Given the description of an element on the screen output the (x, y) to click on. 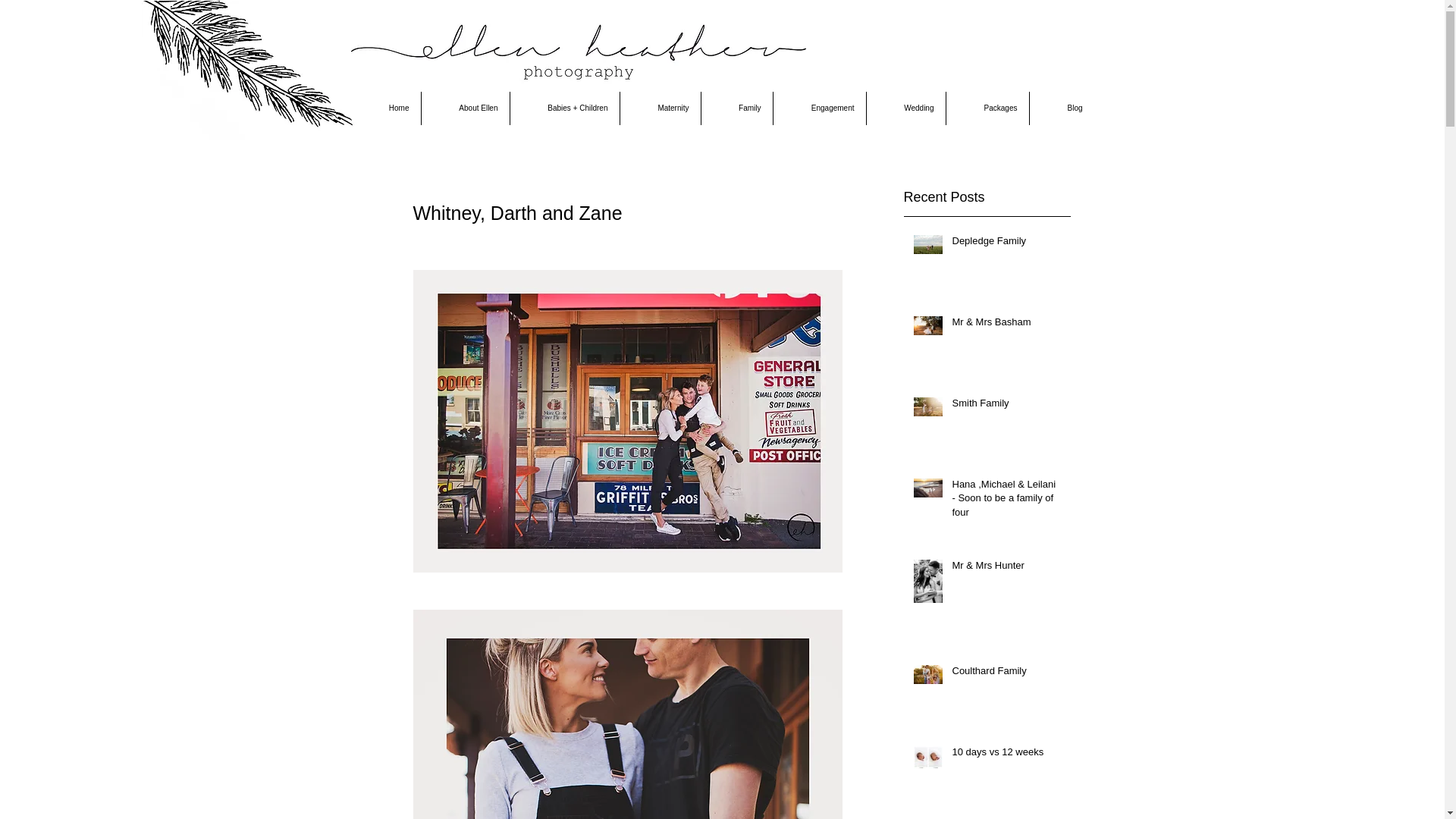
Home Element type: text (385, 108)
Mr & Mrs Hunter Element type: text (1006, 568)
Engagement Element type: text (819, 108)
Depledge Family Element type: text (1006, 244)
Mr & Mrs Basham Element type: text (1006, 325)
Hana ,Michael & Leilani - Soon to be a family of four Element type: text (1006, 501)
Coulthard Family Element type: text (1006, 674)
Maternity Element type: text (660, 108)
10 days vs 12 weeks Element type: text (1006, 755)
Babies + Children Element type: text (563, 108)
Wedding Element type: text (905, 108)
Blog Element type: text (1061, 108)
Family Element type: text (735, 108)
Packages Element type: text (987, 108)
About Ellen Element type: text (465, 108)
Smith Family Element type: text (1006, 406)
